Given the description of an element on the screen output the (x, y) to click on. 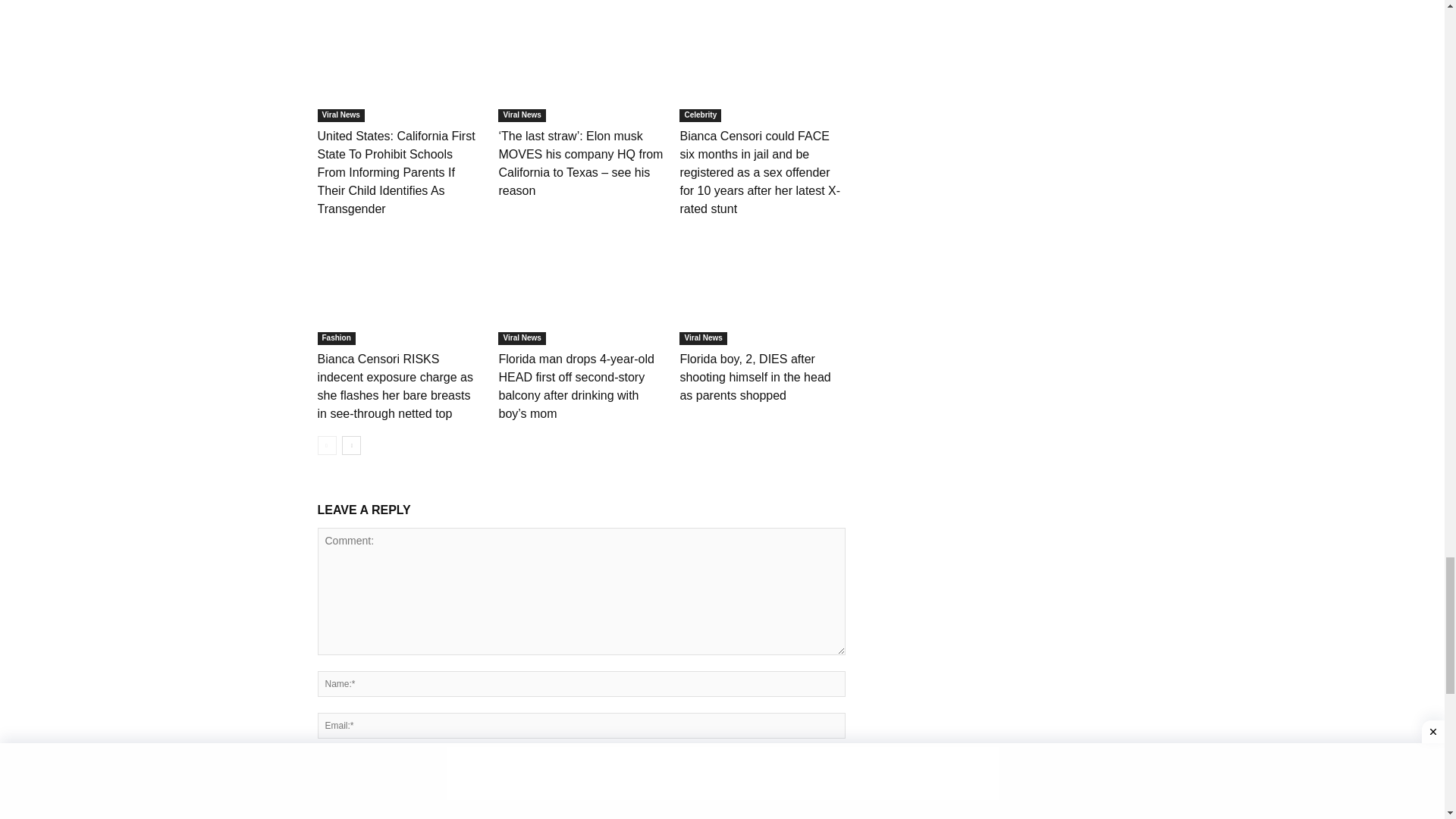
yes (321, 804)
